Given the description of an element on the screen output the (x, y) to click on. 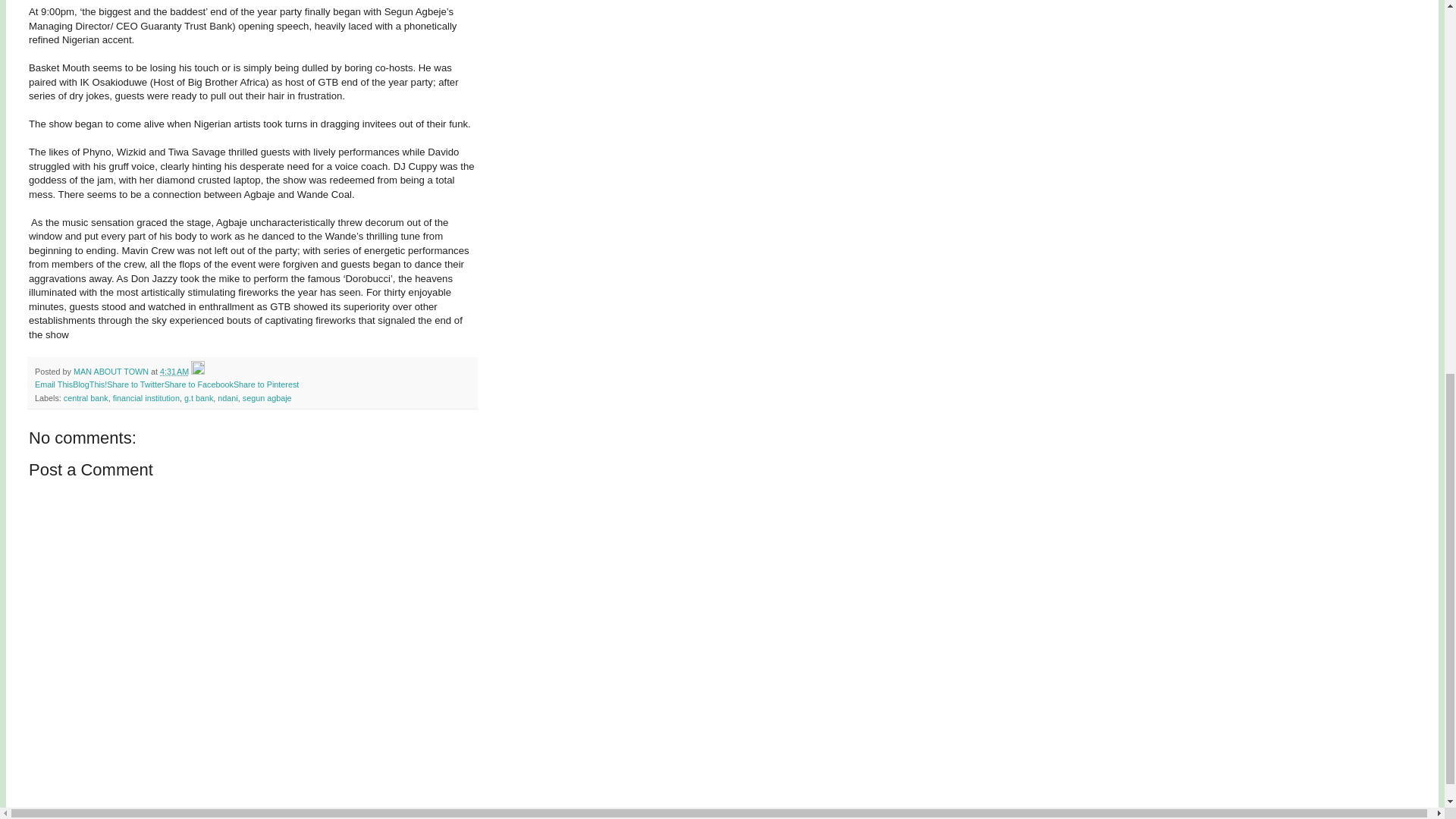
Share to Facebook (198, 384)
g.t bank (198, 397)
Email This (53, 384)
BlogThis! (89, 384)
Share to Pinterest (265, 384)
permanent link (174, 370)
Share to Pinterest (265, 384)
Edit Post (197, 370)
financial institution (146, 397)
Share to Facebook (198, 384)
author profile (112, 370)
Email This (53, 384)
Share to Twitter (134, 384)
ndani (226, 397)
